Given the description of an element on the screen output the (x, y) to click on. 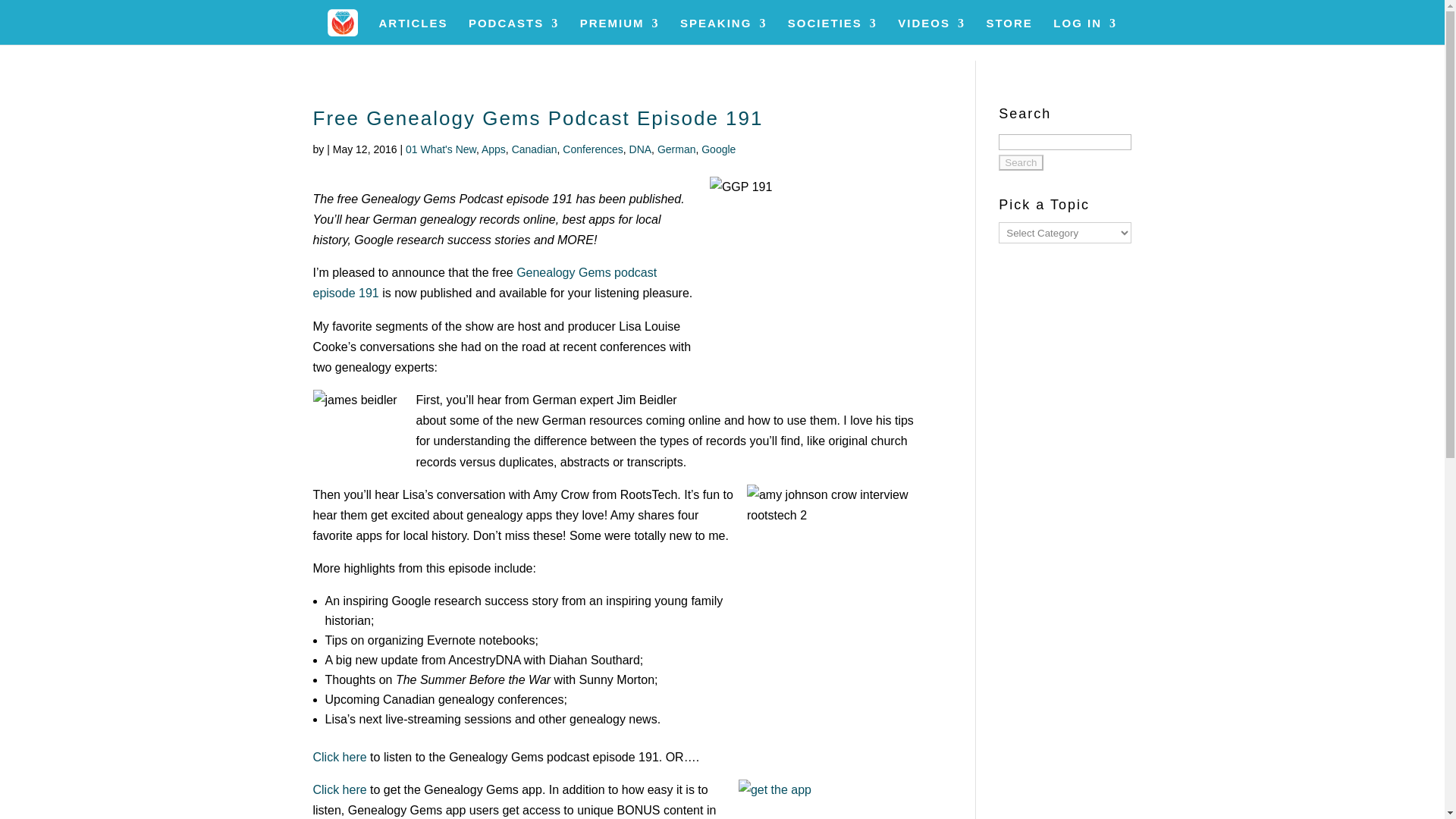
LOG IN (1084, 31)
STORE (1008, 31)
01 What's New (441, 149)
Watch free genealogy videos (931, 31)
SOCIETIES (832, 31)
PREMIUM (619, 31)
ARTICLES (412, 31)
Login (1115, 250)
Canadian (534, 149)
PODCASTS (513, 31)
